Given the description of an element on the screen output the (x, y) to click on. 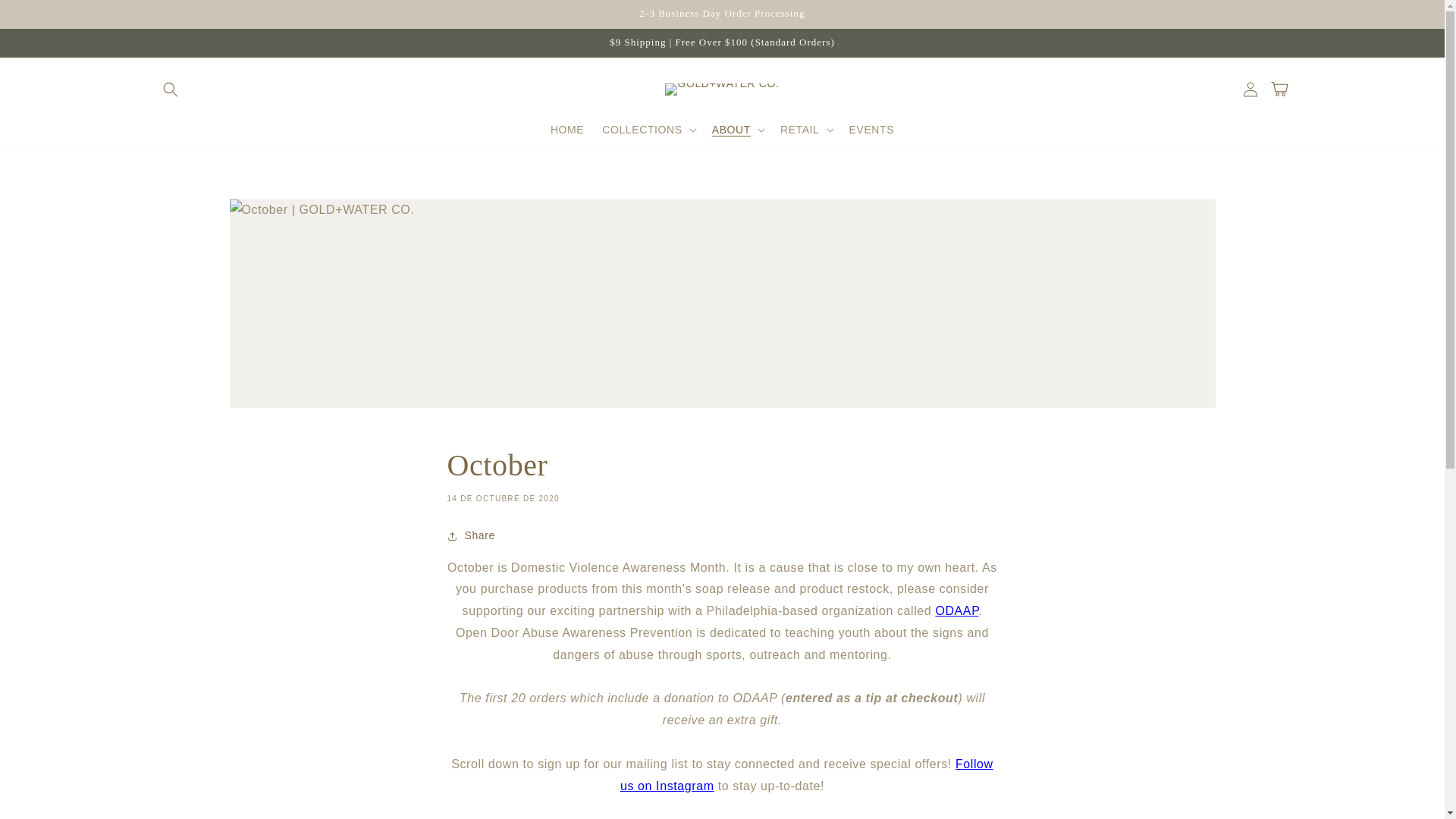
HOME (566, 129)
Ir directamente al contenido (45, 16)
ODAAP (956, 610)
